Given the description of an element on the screen output the (x, y) to click on. 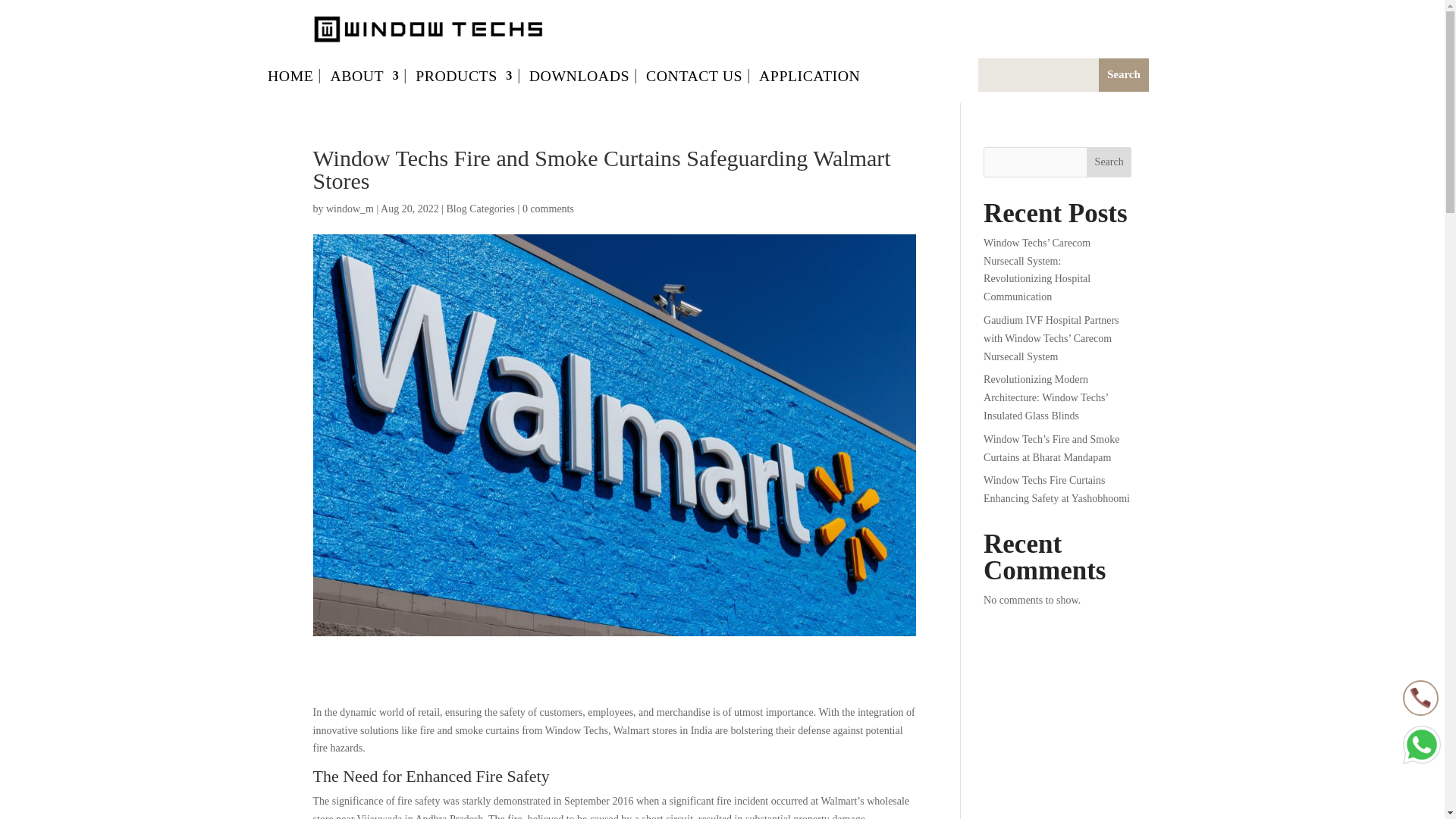
CONTACT US (694, 78)
HOME (290, 78)
PRODUCTS (463, 78)
DOWNLOADS (578, 78)
Search (1123, 74)
Search (1123, 74)
ABOUT (364, 78)
APPLICATION (809, 78)
logo (428, 29)
